Given the description of an element on the screen output the (x, y) to click on. 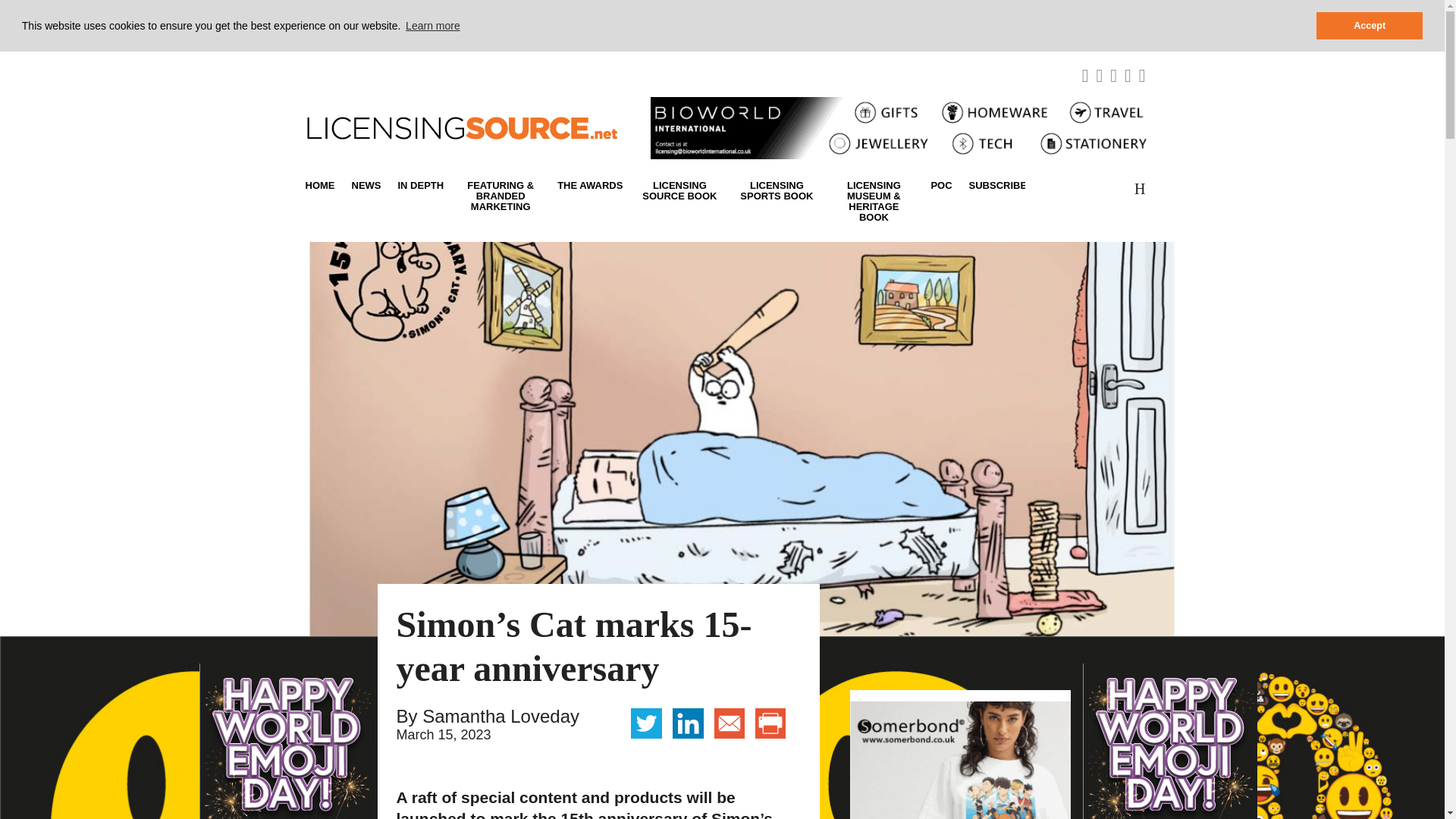
HOME (323, 185)
NEWS (365, 185)
THE AWARDS (589, 185)
Accept (1369, 25)
Learn more (432, 25)
IN DEPTH (421, 185)
